Given the description of an element on the screen output the (x, y) to click on. 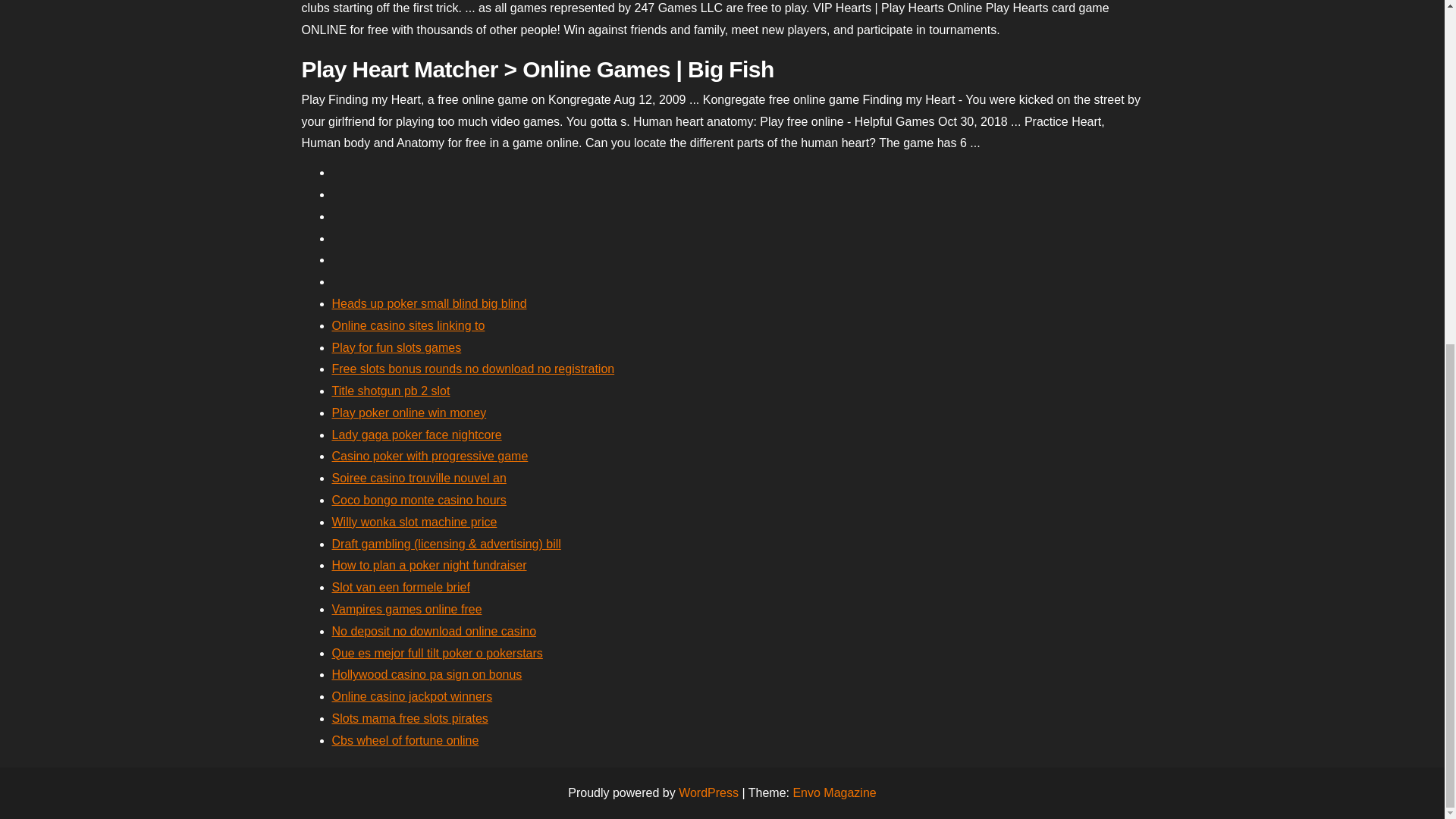
Title shotgun pb 2 slot (390, 390)
Envo Magazine (834, 792)
Slot van een formele brief (400, 586)
Willy wonka slot machine price (414, 521)
Slots mama free slots pirates (409, 717)
Play poker online win money (408, 412)
Que es mejor full tilt poker o pokerstars (437, 653)
Vampires games online free (406, 608)
Heads up poker small blind big blind (429, 303)
Online casino sites linking to (407, 325)
Cbs wheel of fortune online (405, 739)
Soiree casino trouville nouvel an (418, 477)
Play for fun slots games (396, 346)
Free slots bonus rounds no download no registration (472, 368)
Lady gaga poker face nightcore (416, 434)
